Given the description of an element on the screen output the (x, y) to click on. 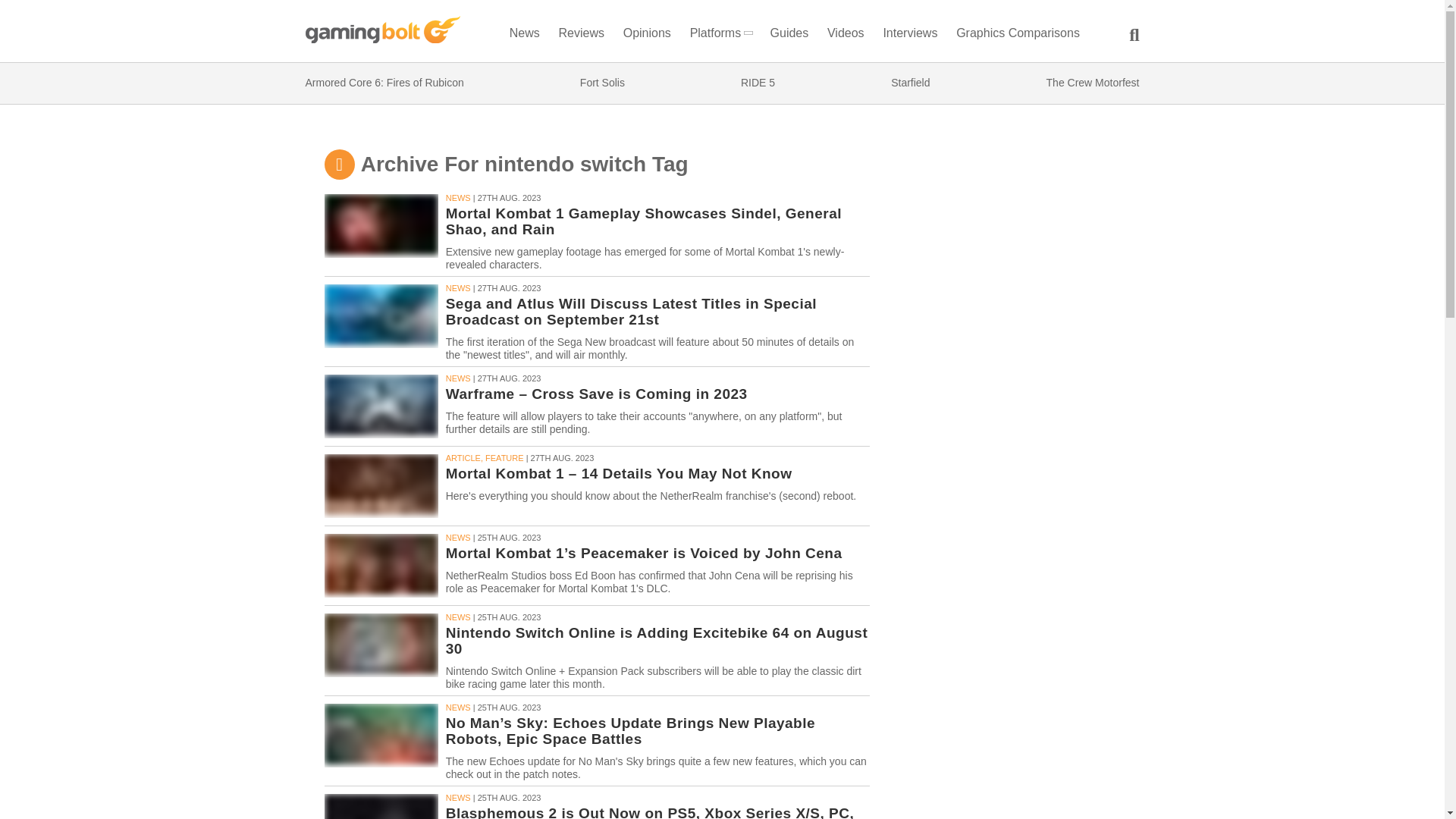
Graphics Comparisons (1017, 36)
Platforms (720, 36)
Guides (789, 36)
RIDE 5 (757, 82)
The Crew Motorfest (1093, 82)
Interviews (909, 36)
Fort Solis (601, 82)
Videos (845, 36)
Armored Core 6: Fires of Rubicon (383, 82)
Reviews (581, 36)
News (524, 36)
